Given the description of an element on the screen output the (x, y) to click on. 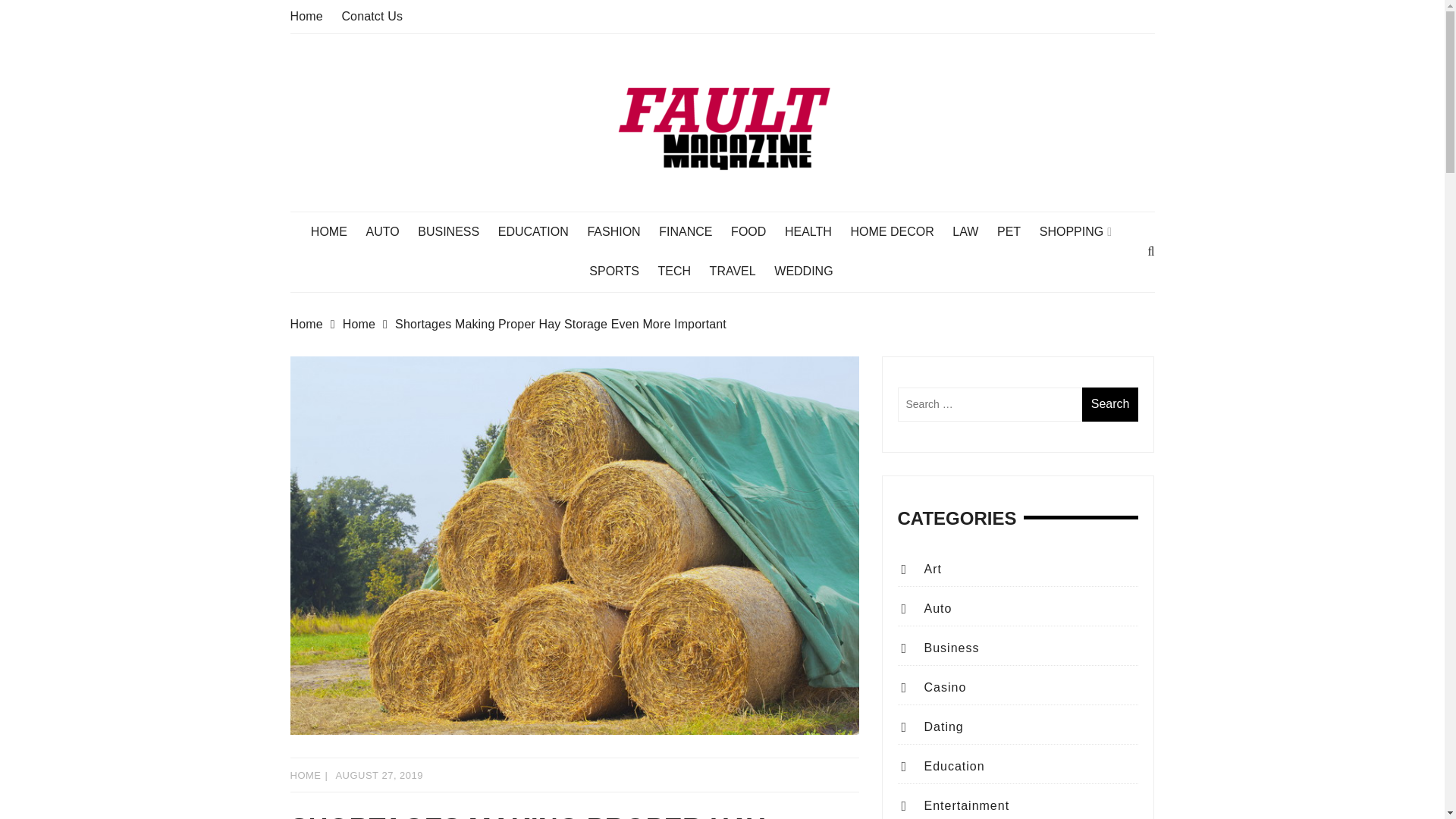
Conatct Us (371, 16)
Home (305, 16)
Search (1109, 404)
SPORTS (621, 271)
HOME (304, 775)
FASHION (620, 231)
Home (368, 324)
FOOD (755, 231)
HEALTH (815, 231)
TRAVEL (740, 271)
HOME (336, 231)
HOME DECOR (899, 231)
BUSINESS (456, 231)
EDUCATION (540, 231)
AUTO (389, 231)
